Given the description of an element on the screen output the (x, y) to click on. 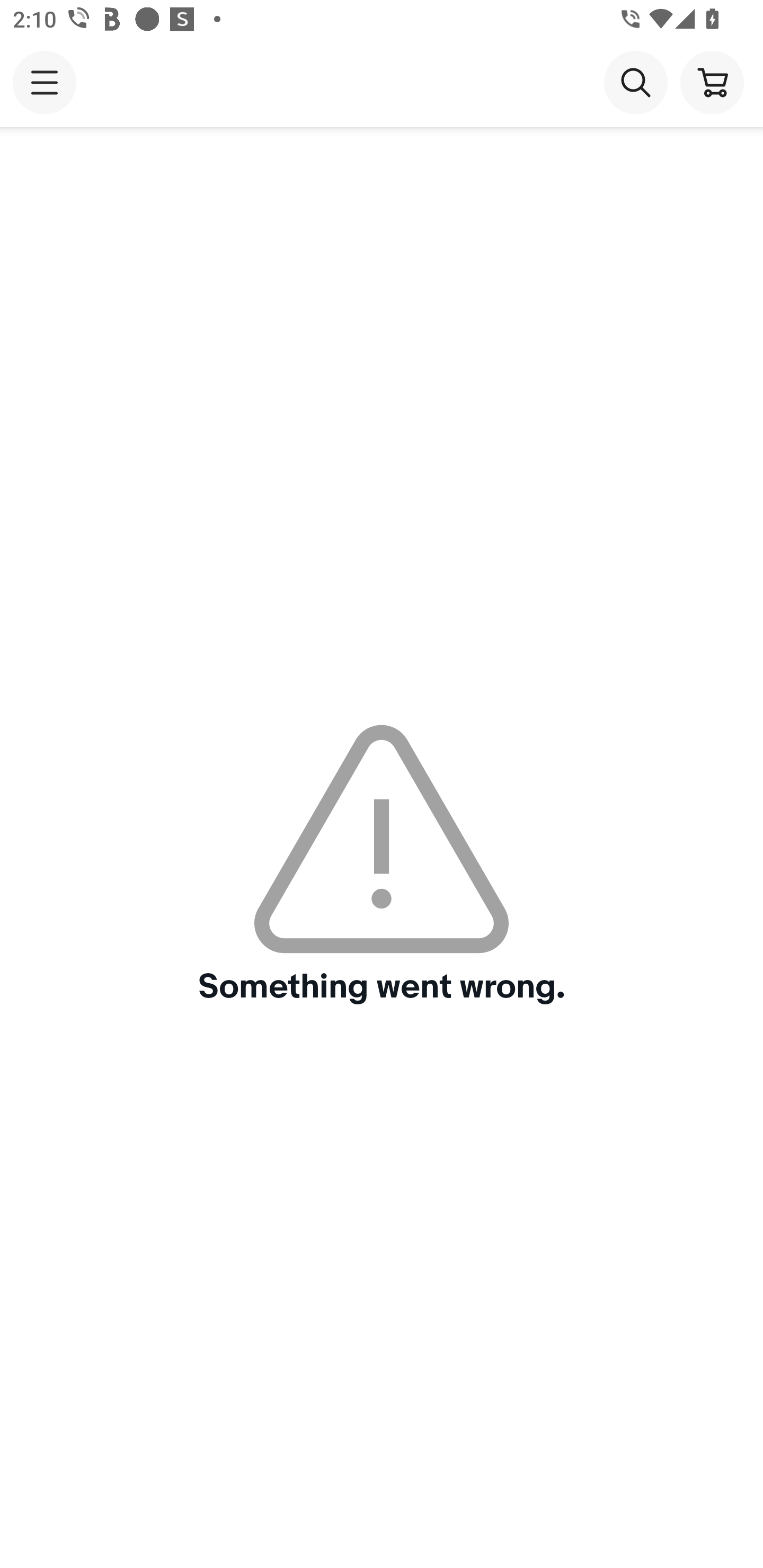
Main navigation, open (44, 82)
Search (635, 81)
Cart button shopping cart (711, 81)
